Given the description of an element on the screen output the (x, y) to click on. 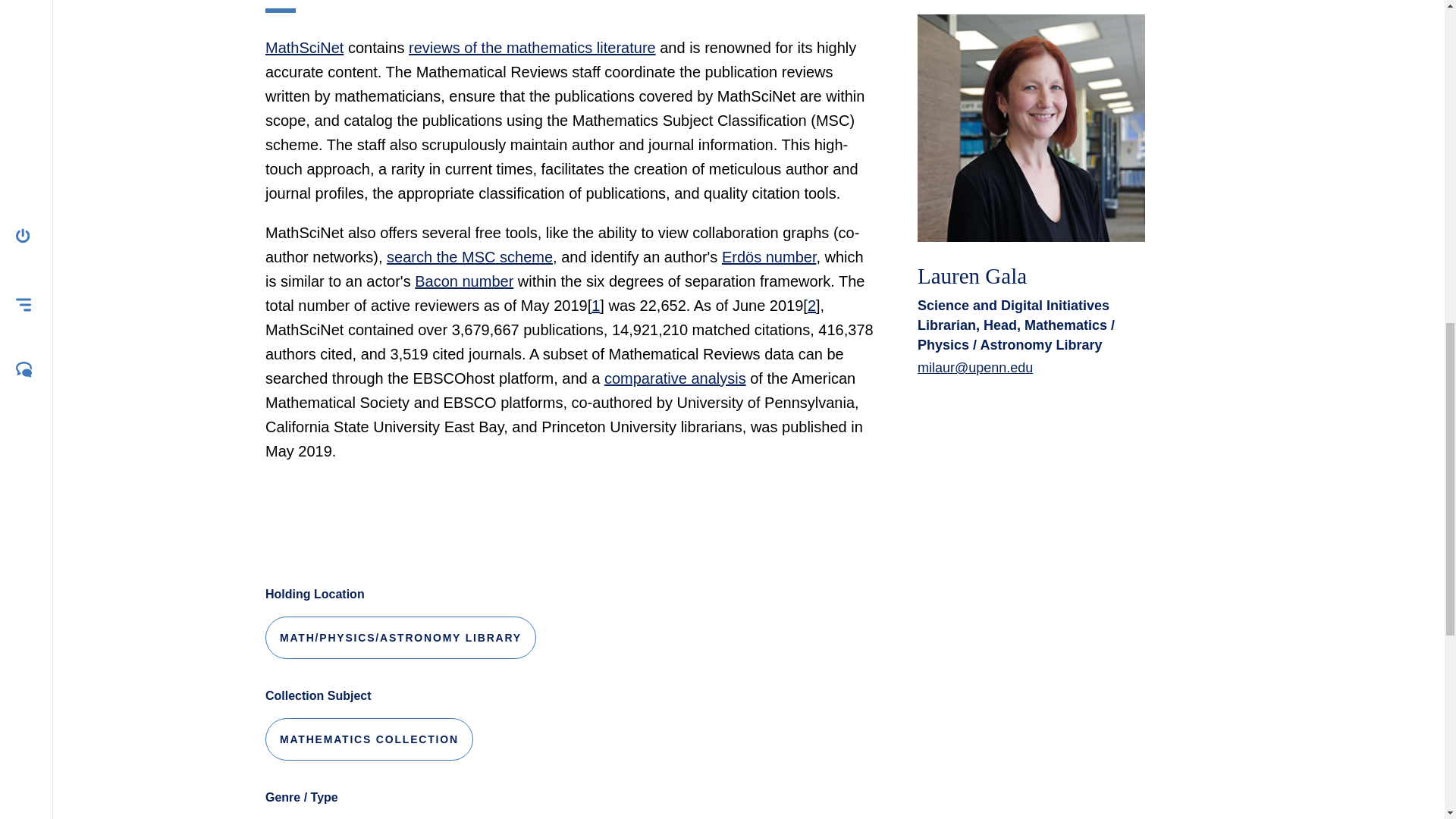
View staff profile (1030, 127)
View staff profile (971, 275)
Mathematics CollectionMathematics Collection (368, 739)
